Given the description of an element on the screen output the (x, y) to click on. 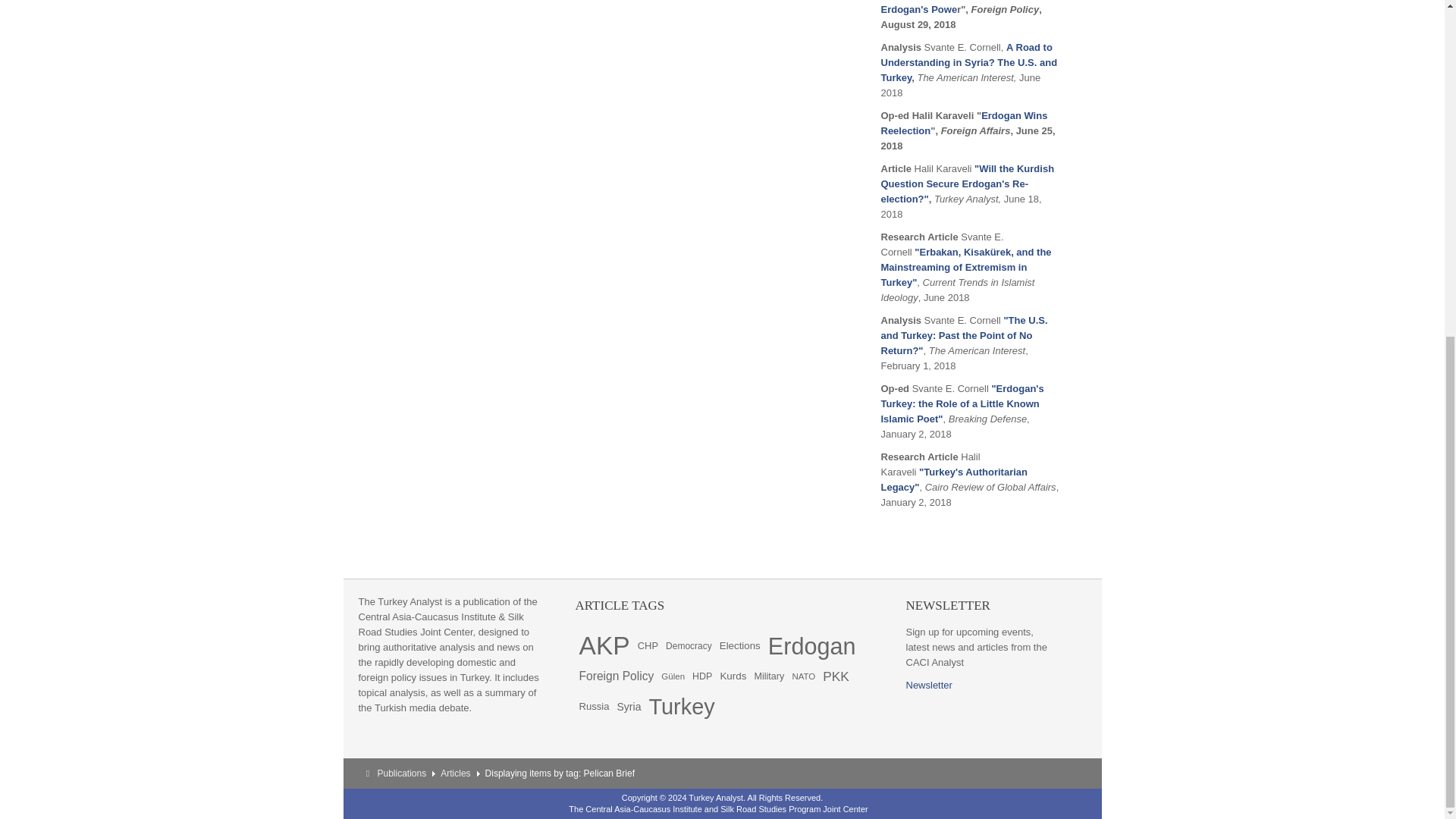
Elections (740, 645)
NATO (802, 675)
"Turkey's Authoritarian Legacy" (953, 479)
A Road to Understanding in Syria? The U.S. and Turkey (969, 62)
39 items tagged with Russia (593, 706)
46 items tagged with Syria (628, 706)
38 items tagged with CHP (647, 645)
31 items tagged with Democracy (689, 645)
"The U.S. and Turkey: Past the Point of No Return?" (964, 335)
CHP (647, 645)
